Given the description of an element on the screen output the (x, y) to click on. 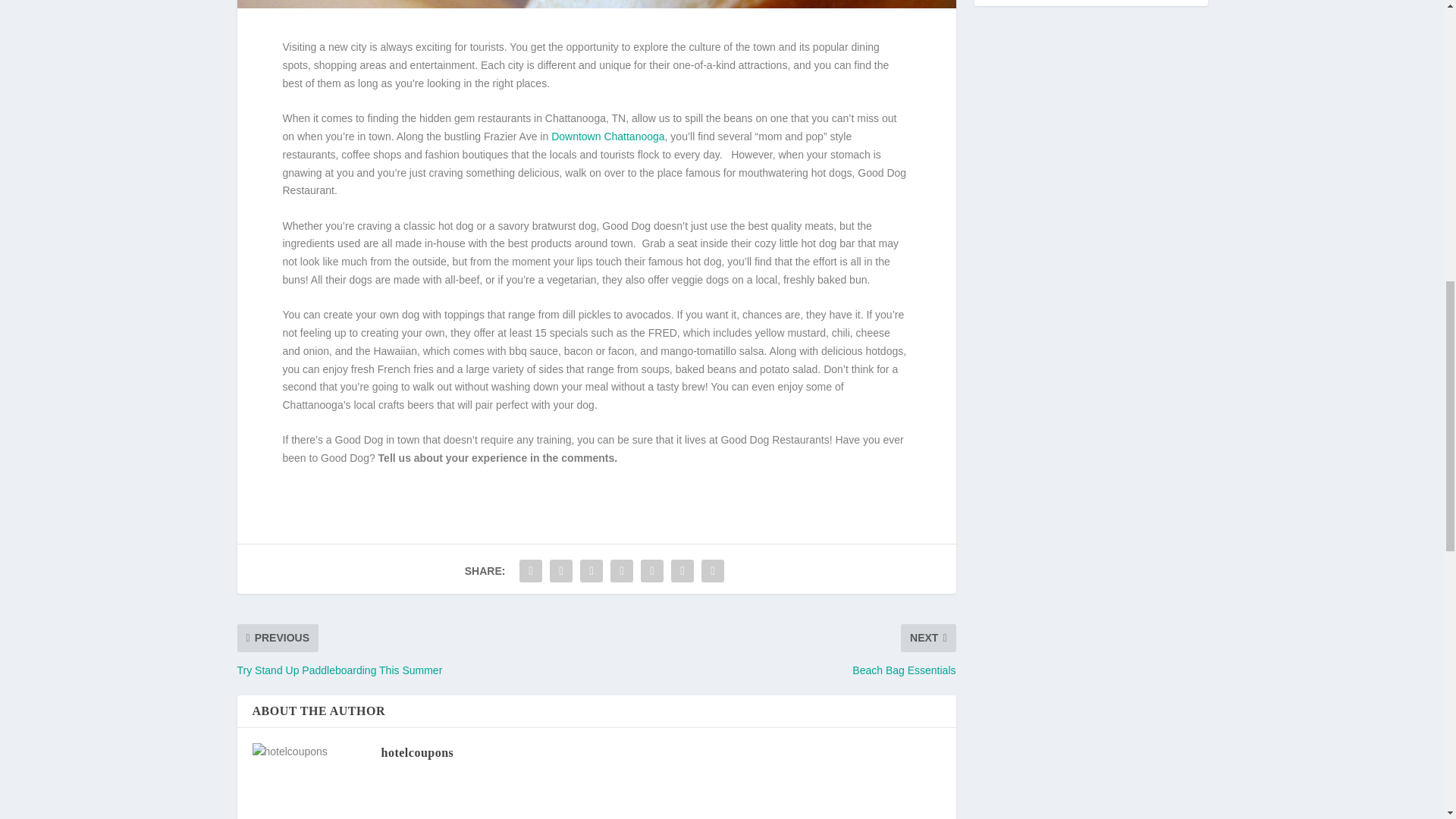
View all posts by hotelcoupons (416, 752)
